Given the description of an element on the screen output the (x, y) to click on. 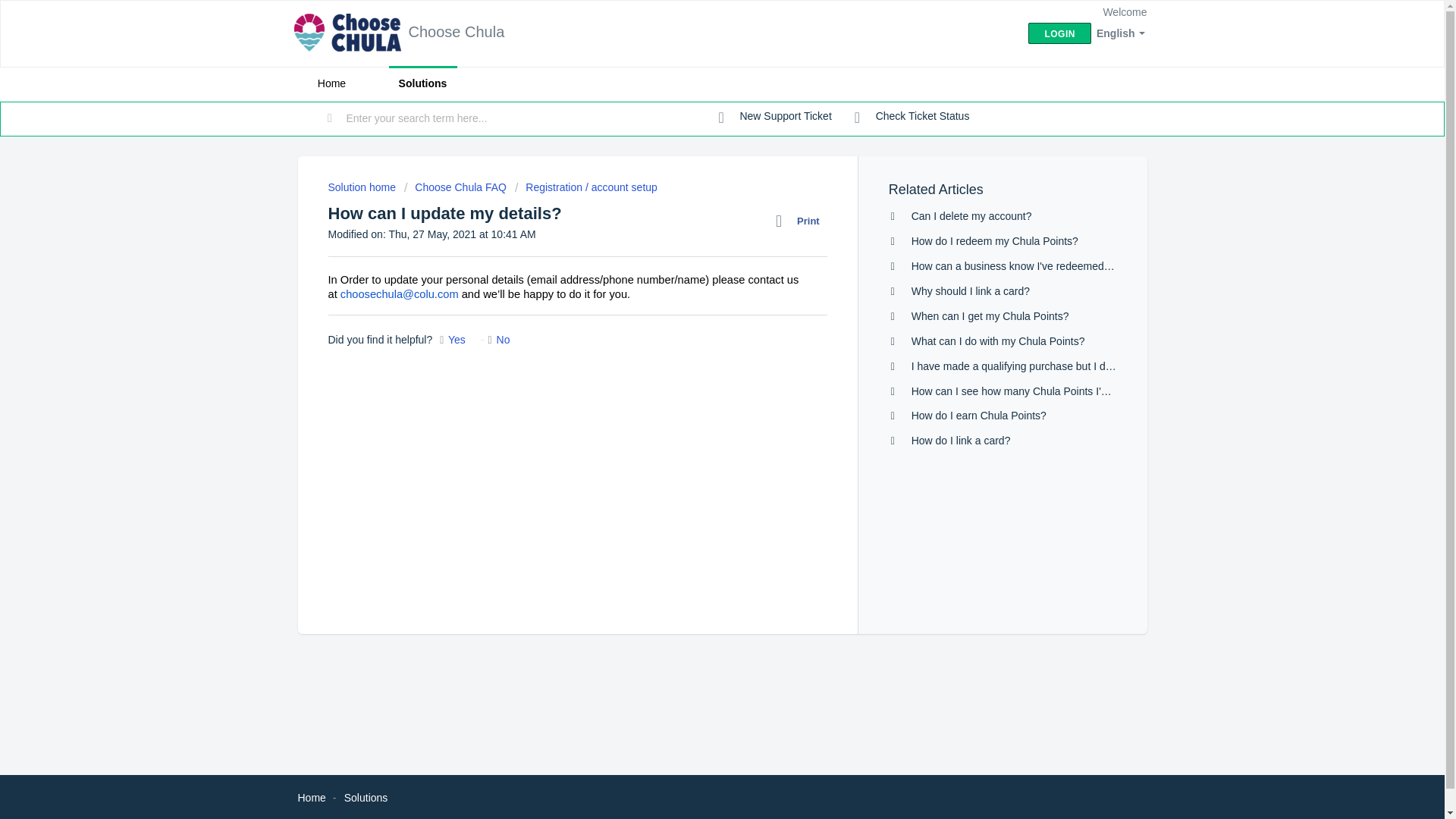
Why should I link a card? (970, 291)
Home (331, 83)
LOGIN (1058, 33)
How can a business know I've redeemed my Chula Points? (1051, 265)
Choose Chula FAQ (455, 186)
Solution home (362, 186)
New support ticket (775, 116)
How do I earn Chula Points? (978, 415)
Home (310, 797)
Check ticket status (911, 116)
